Given the description of an element on the screen output the (x, y) to click on. 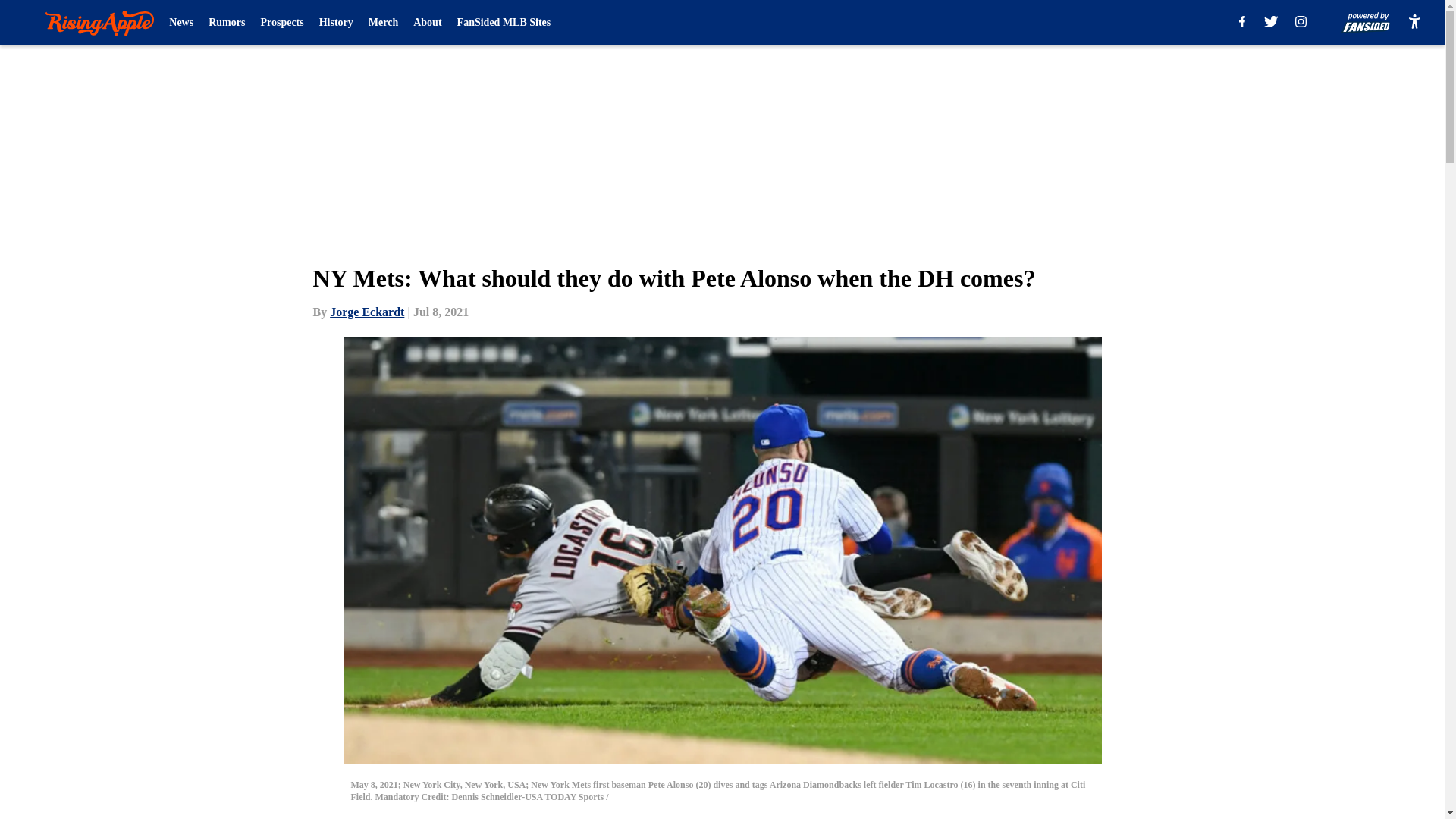
Prospects (281, 22)
About (427, 22)
History (335, 22)
Jorge Eckardt (367, 311)
Merch (382, 22)
News (180, 22)
Rumors (226, 22)
FanSided MLB Sites (504, 22)
